Given the description of an element on the screen output the (x, y) to click on. 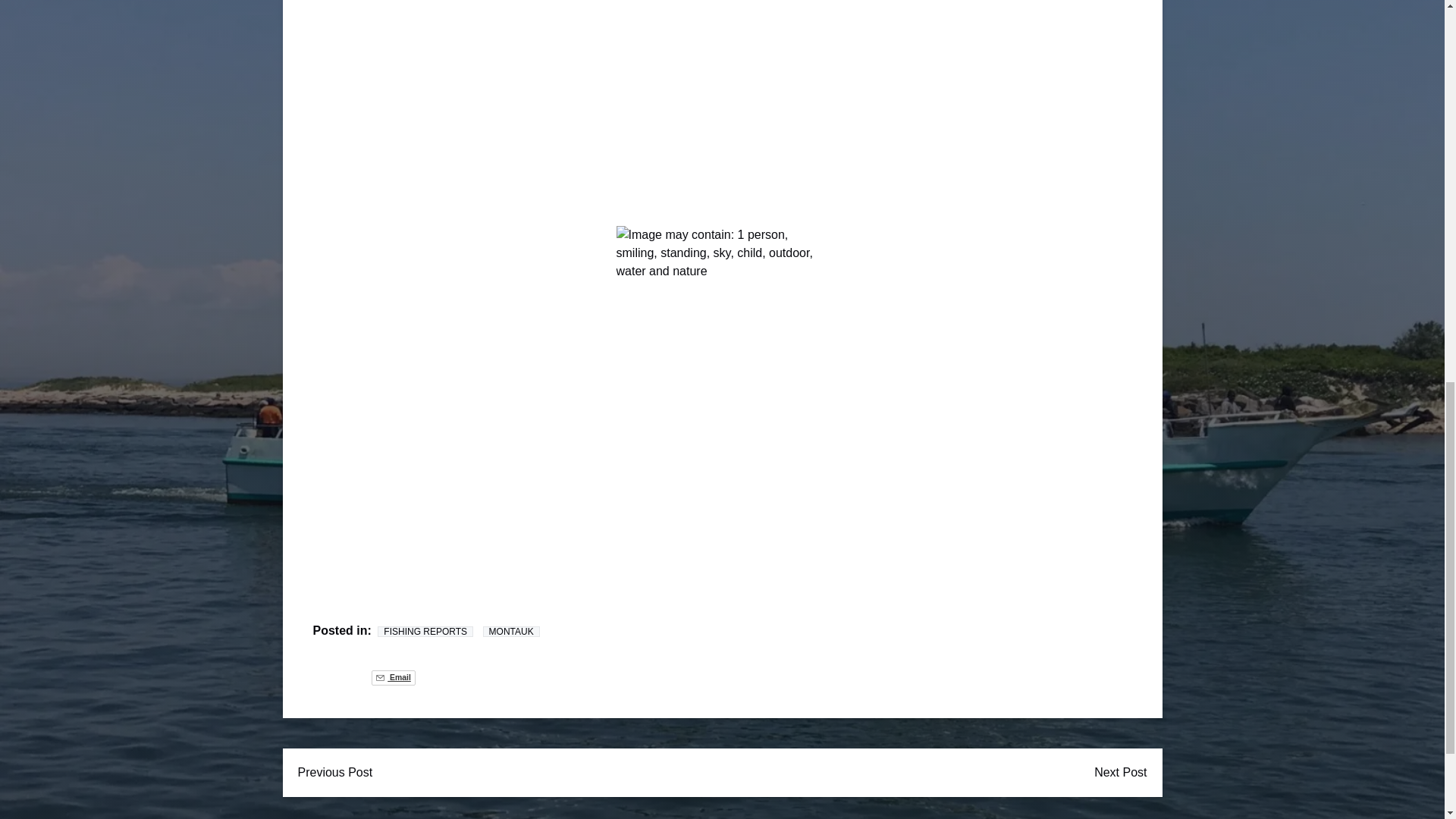
Previous Post (334, 772)
Email (392, 677)
MONTAUK (511, 631)
FISHING REPORTS (425, 631)
Next Post (1119, 772)
